Given the description of an element on the screen output the (x, y) to click on. 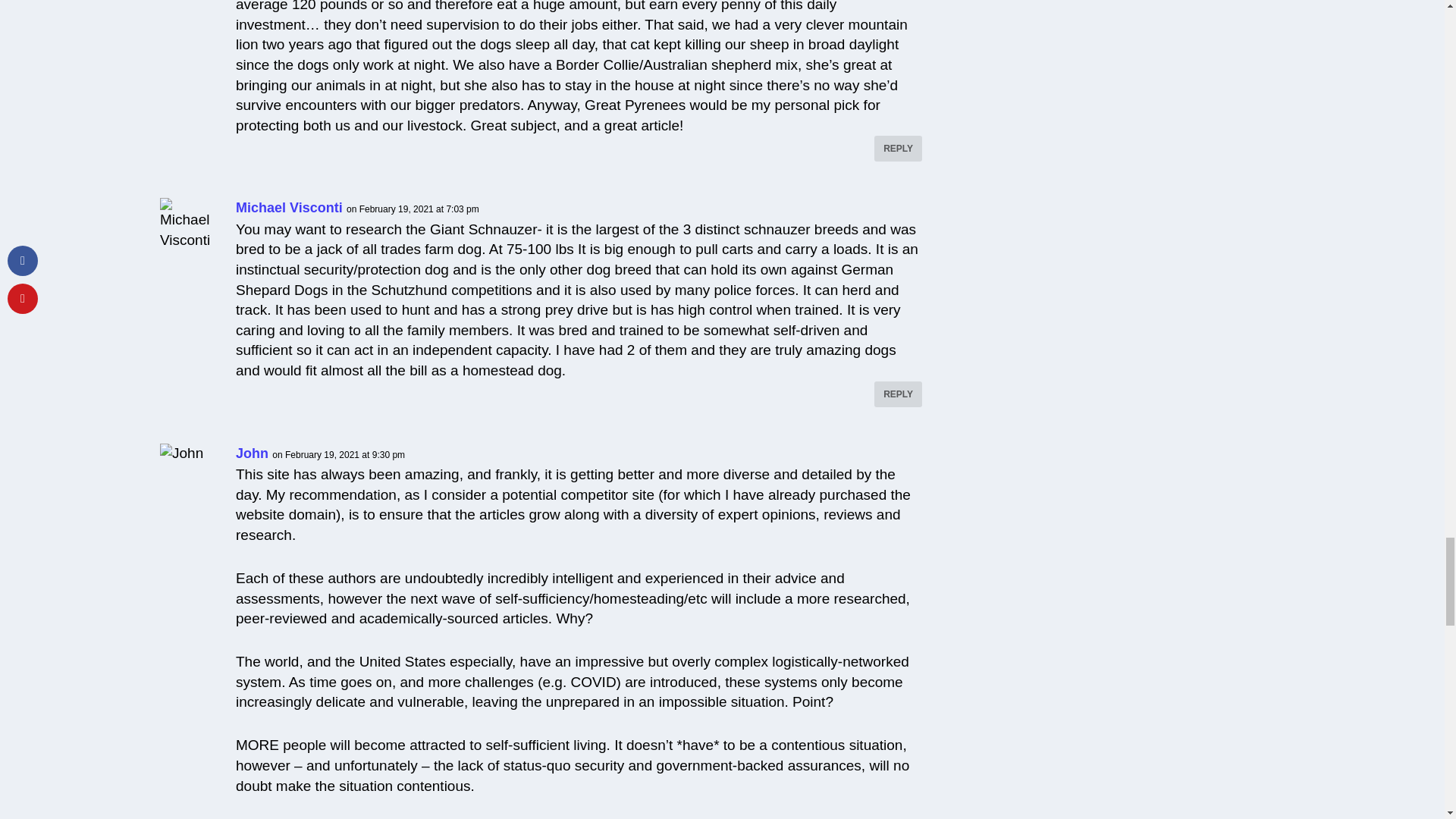
John (251, 453)
REPLY (898, 148)
Michael Visconti (288, 207)
REPLY (898, 394)
